Given the description of an element on the screen output the (x, y) to click on. 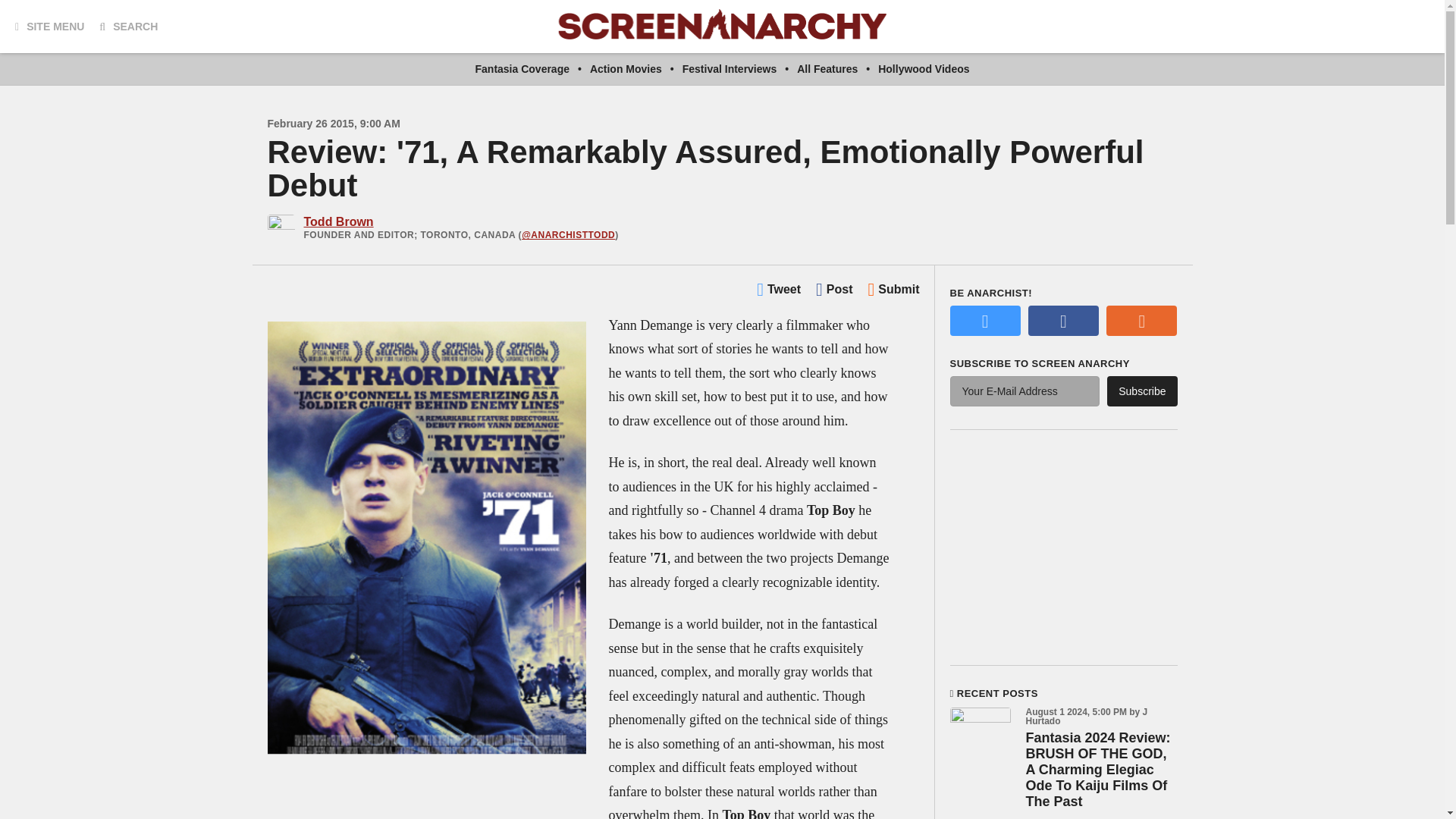
SITE MENU (49, 26)
Fantasia Coverage (521, 69)
Subscribe (1141, 390)
SEARCH (128, 26)
